Given the description of an element on the screen output the (x, y) to click on. 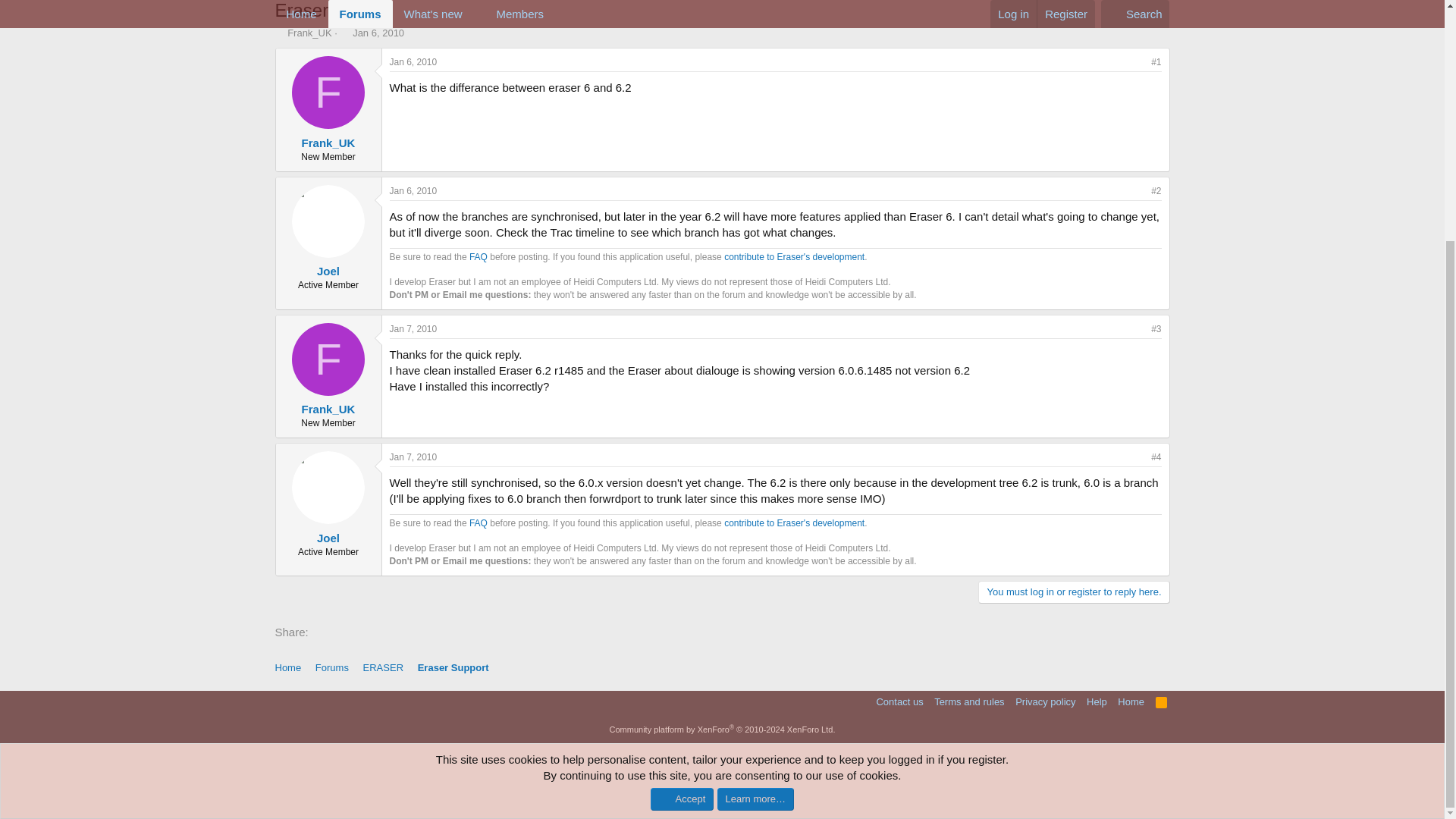
RSS (1161, 701)
F (328, 92)
Start date (345, 32)
Jan 7, 2010 at 12:26 PM (414, 328)
Jan 7, 2010 at 12:28 PM (414, 457)
Jan 6, 2010 (378, 32)
Thread starter (279, 32)
Jan 6, 2010 at 8:36 PM (378, 32)
Jan 6, 2010 at 8:36 PM (414, 61)
Jan 6, 2010 at 11:25 PM (414, 190)
